Given the description of an element on the screen output the (x, y) to click on. 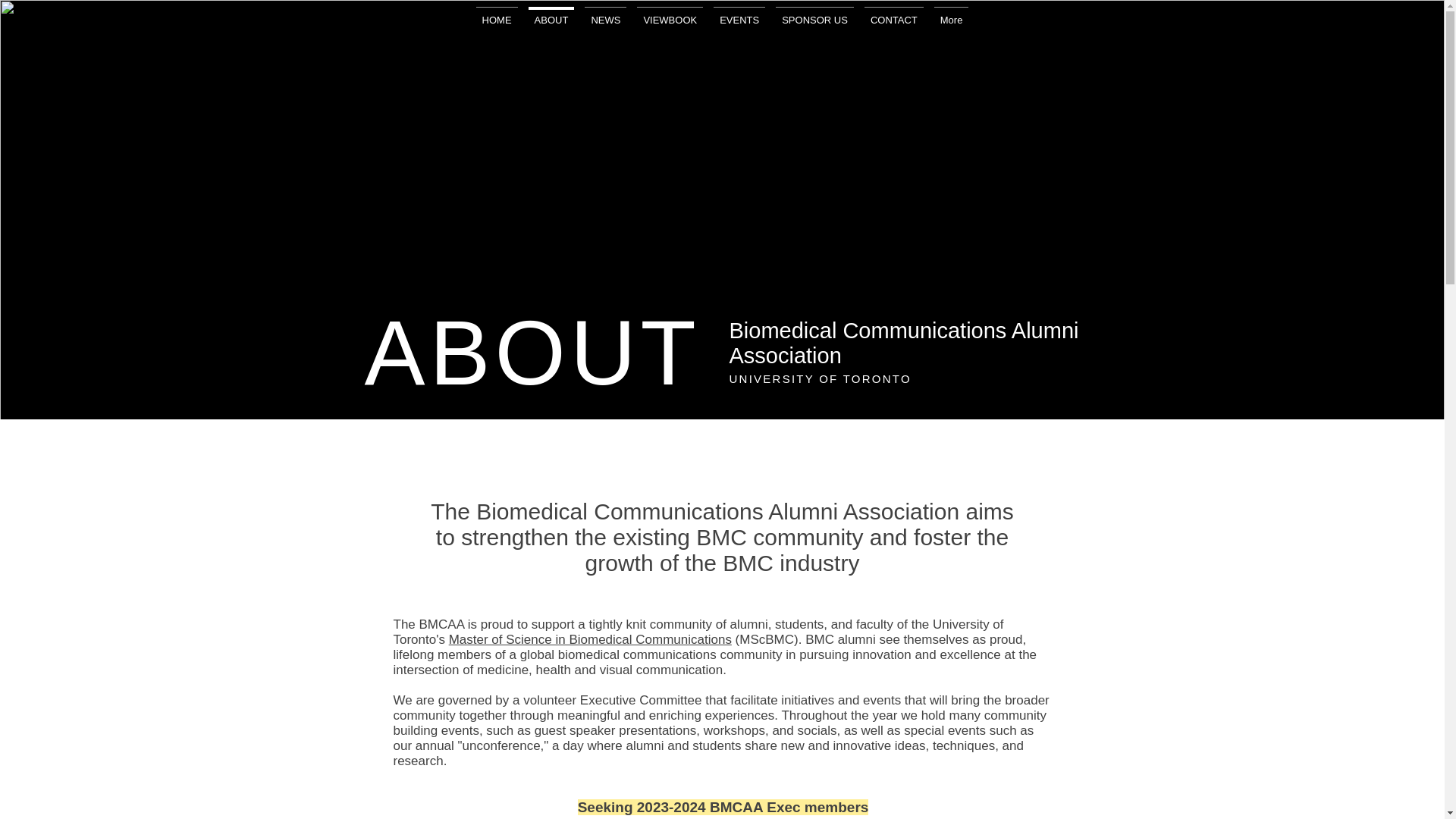
NEWS (605, 21)
CONTACT (893, 21)
VIEWBOOK (669, 21)
HOME (496, 21)
ABOUT (550, 21)
SPONSOR US (814, 21)
EVENTS (738, 21)
Master of Science in Biomedical Communications (590, 639)
